Given the description of an element on the screen output the (x, y) to click on. 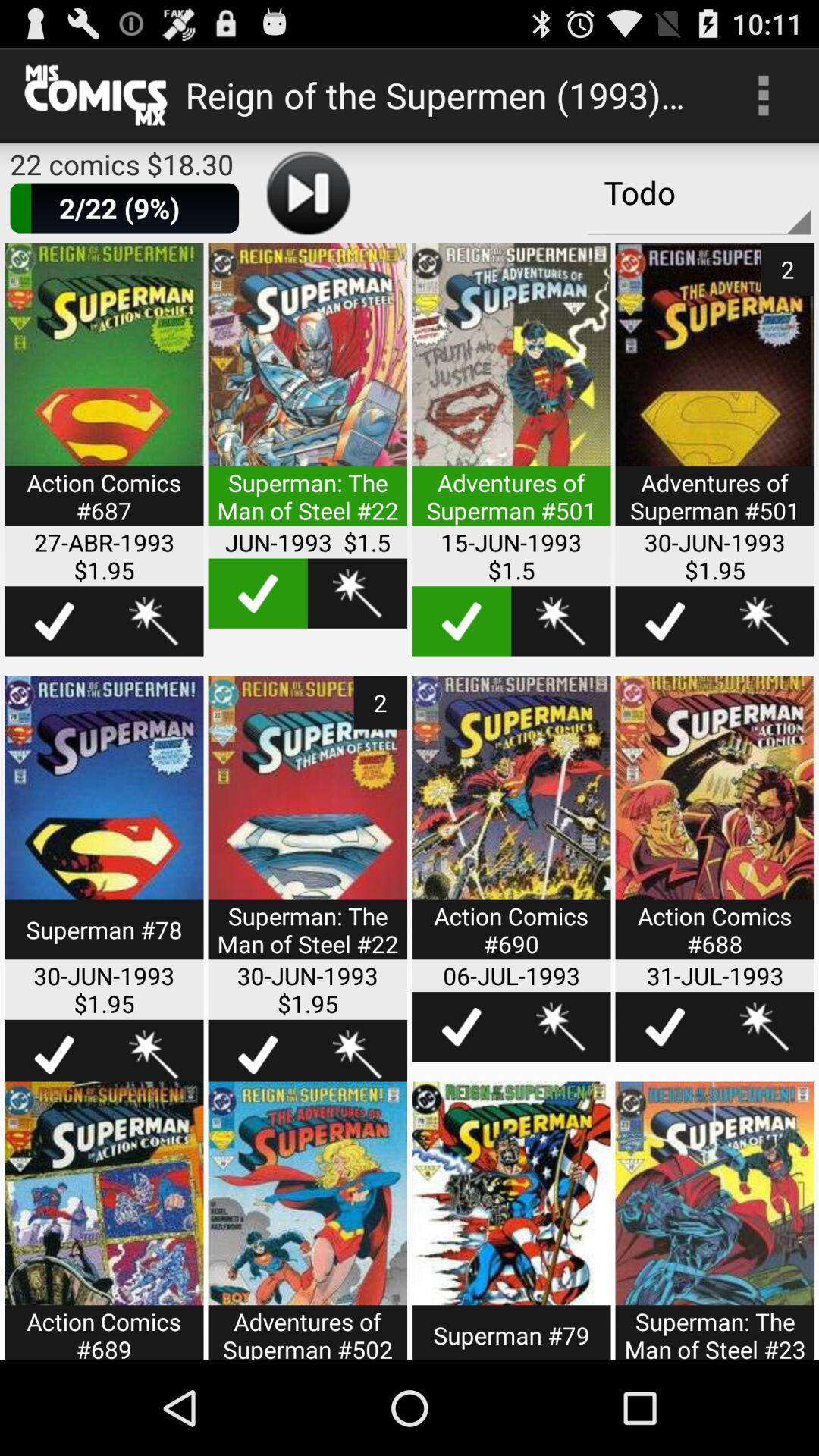
add to wishlist (153, 621)
